Given the description of an element on the screen output the (x, y) to click on. 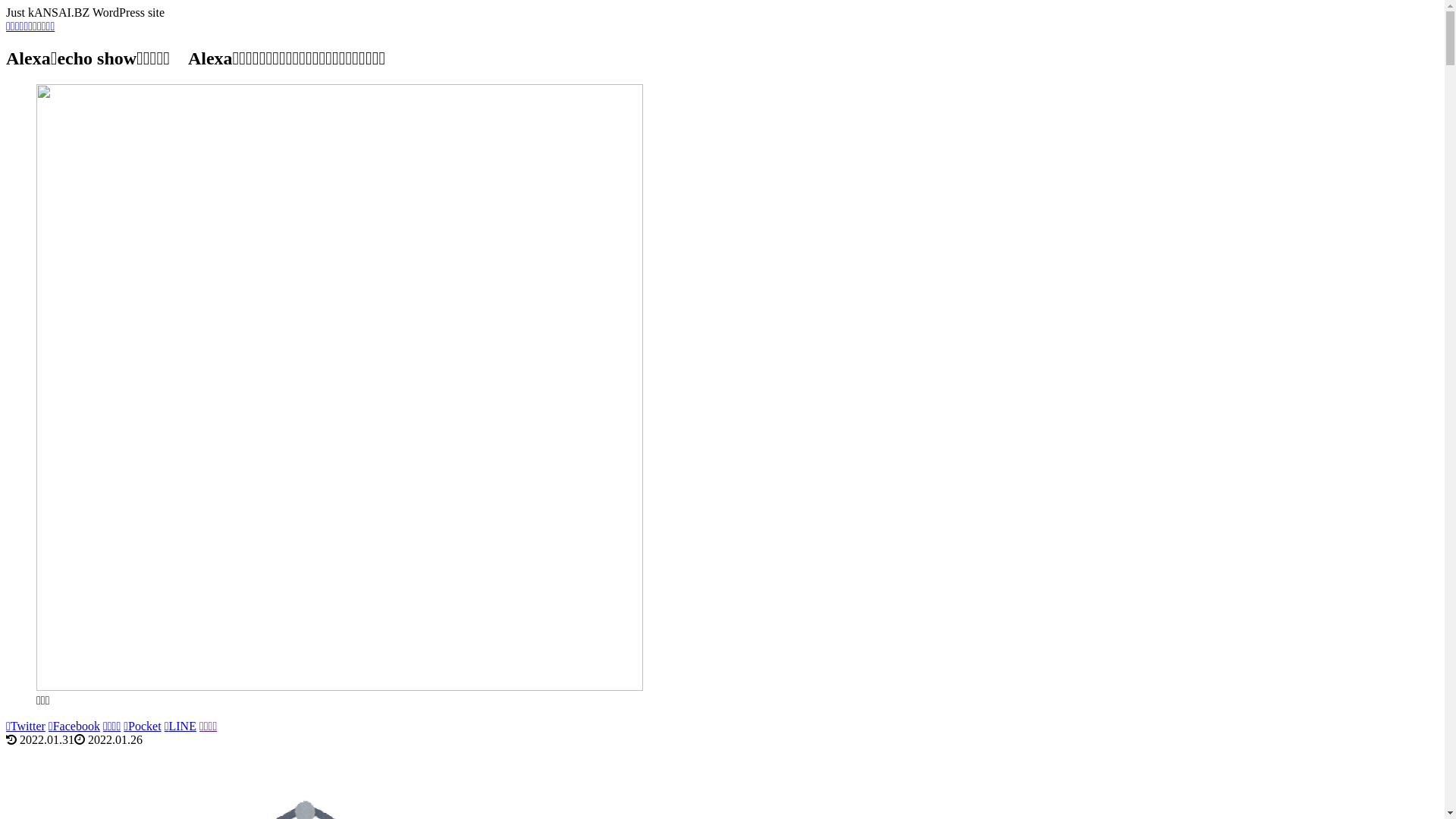
Twitter Element type: text (25, 725)
Facebook Element type: text (74, 725)
Pocket Element type: text (141, 725)
LINE Element type: text (180, 725)
